Given the description of an element on the screen output the (x, y) to click on. 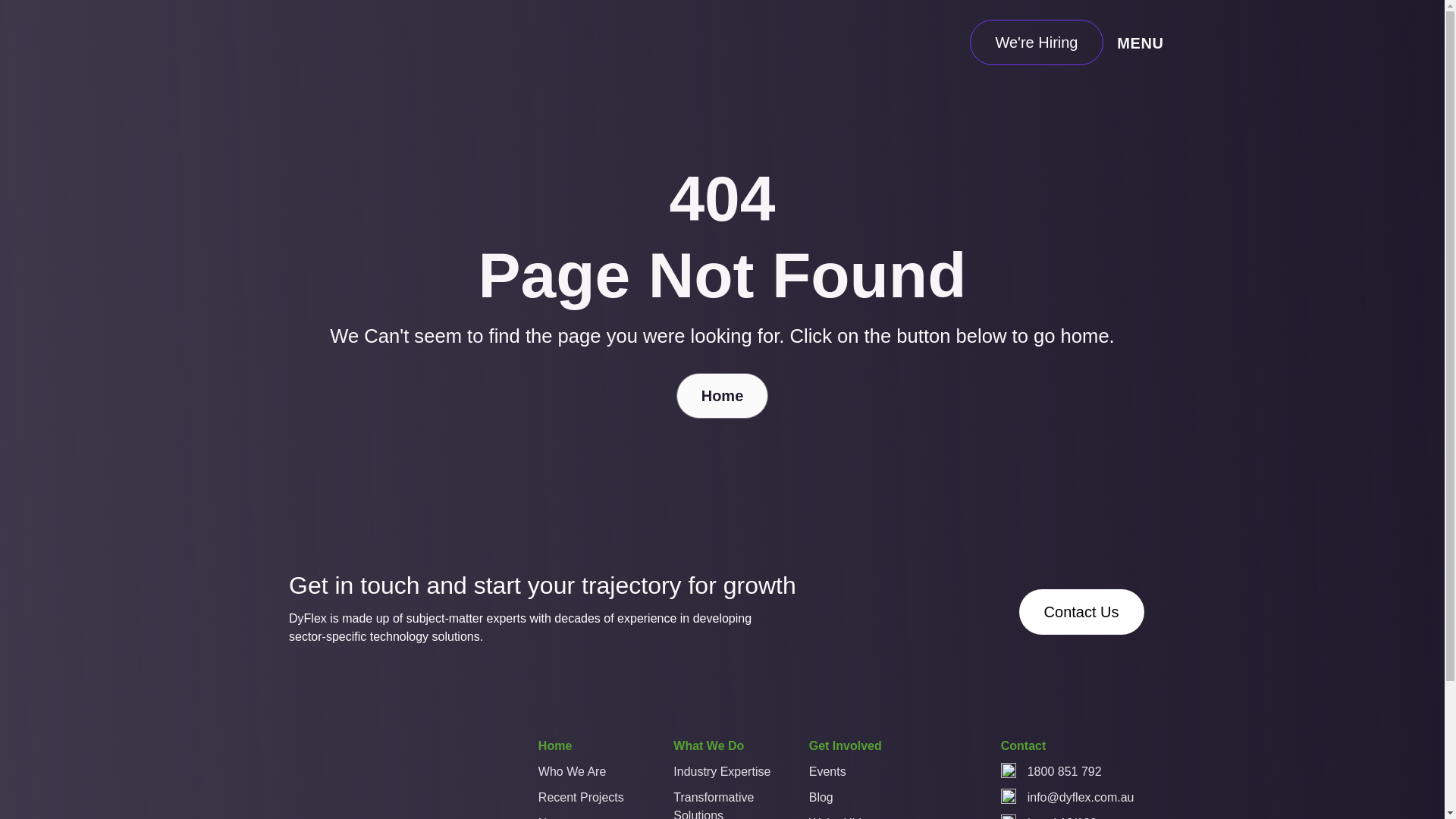
Blog Element type: text (857, 801)
info@dyflex.com.au Element type: text (1080, 797)
Home Element type: text (722, 395)
1800 851 792 Element type: text (1064, 771)
Industry Expertise Element type: text (721, 775)
Who We Are Element type: text (586, 775)
Home Element type: text (554, 749)
Events Element type: text (857, 775)
MENU
CLOSE Element type: text (1144, 42)
Contact Us Element type: text (1081, 611)
We're Hiring Element type: text (1035, 42)
Recent Projects Element type: text (586, 801)
